Given the description of an element on the screen output the (x, y) to click on. 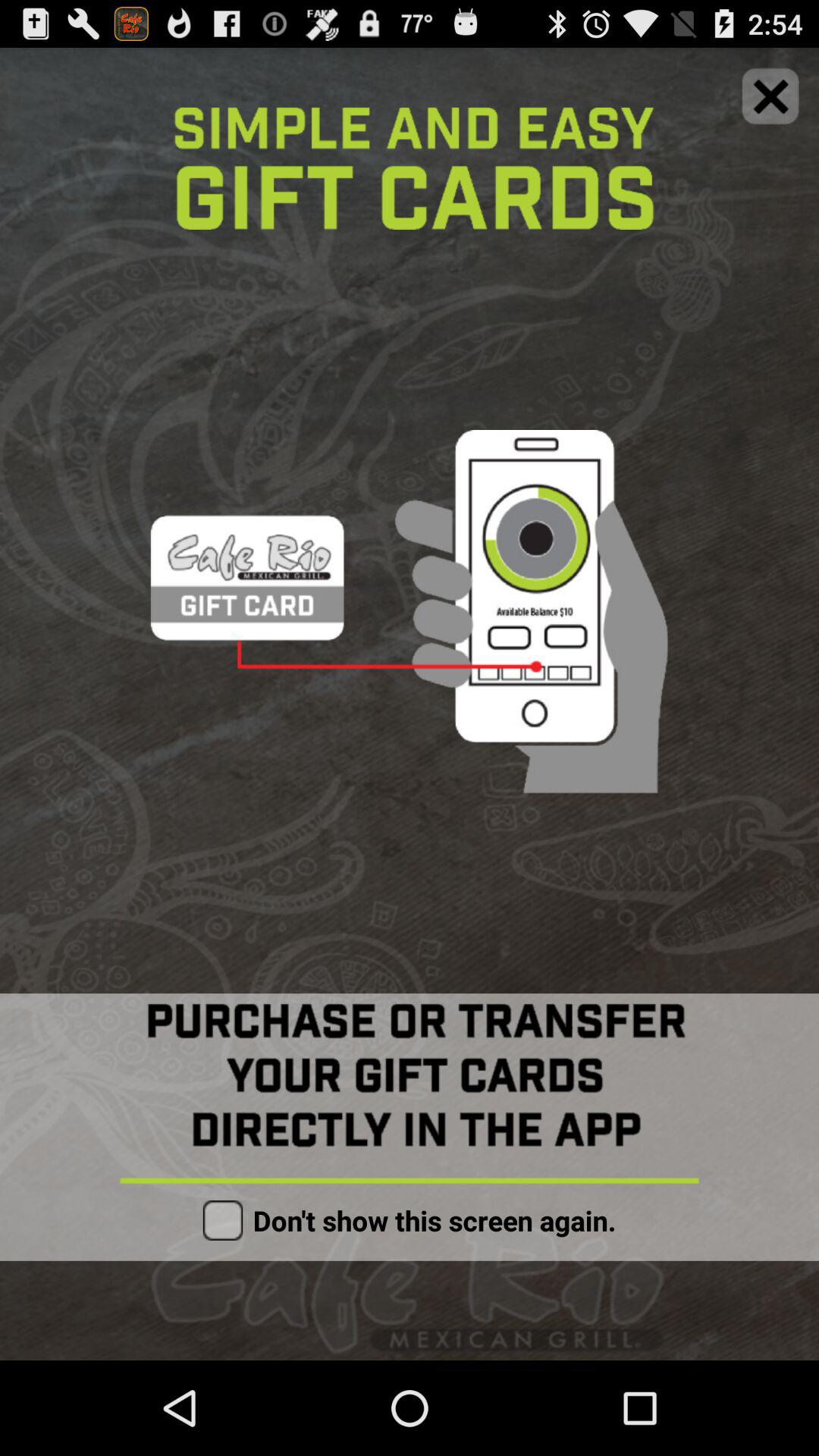
do n't show message checkbox (222, 1220)
